Given the description of an element on the screen output the (x, y) to click on. 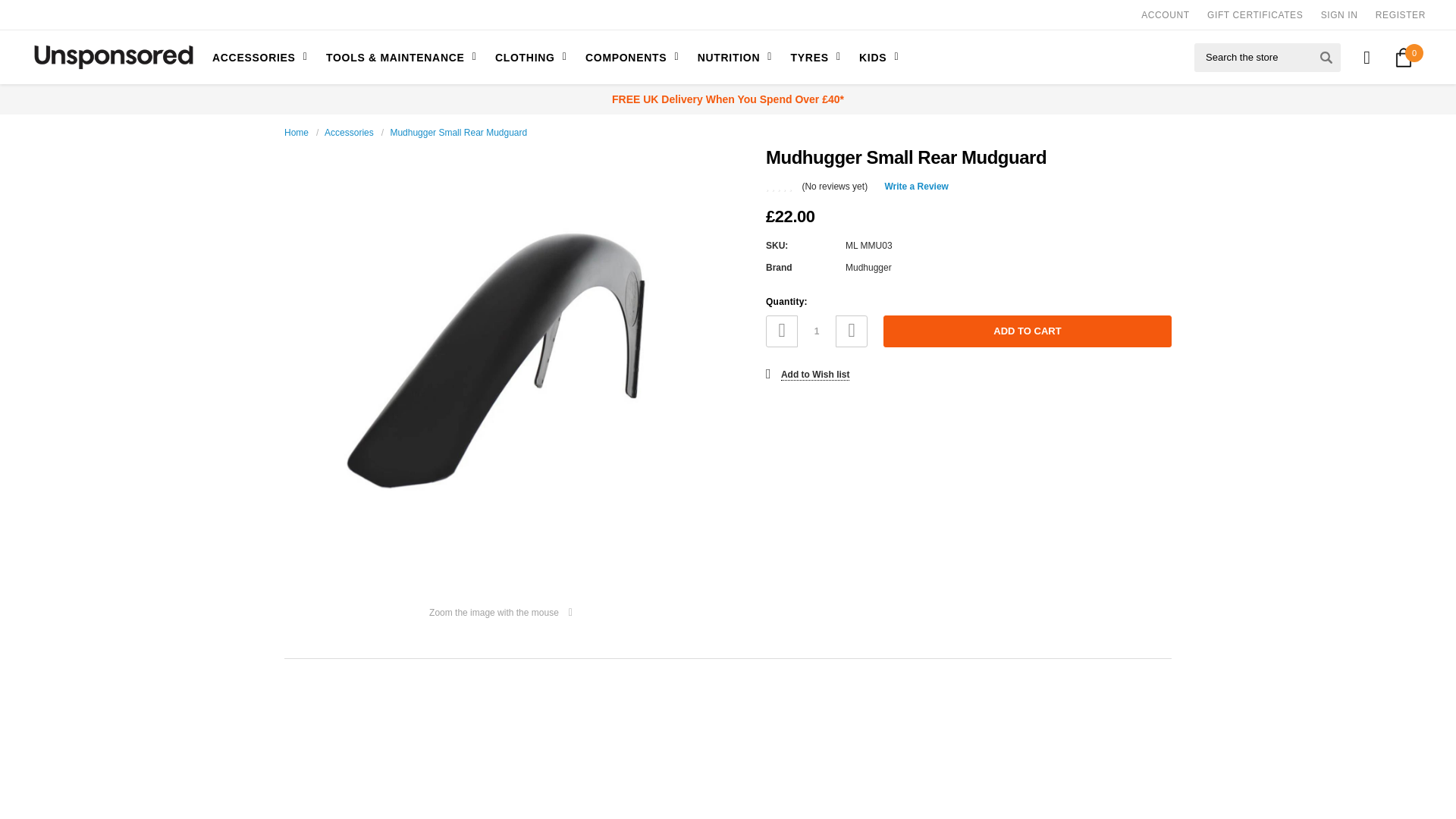
Unsponsored (113, 56)
CLOTHING (527, 57)
REGISTER (1400, 14)
1 (816, 331)
GIFT CERTIFICATES (1255, 14)
Add to Cart (1027, 331)
SIGN IN (1339, 14)
ACCESSORIES (262, 57)
COMPONENTS (627, 57)
